Given the description of an element on the screen output the (x, y) to click on. 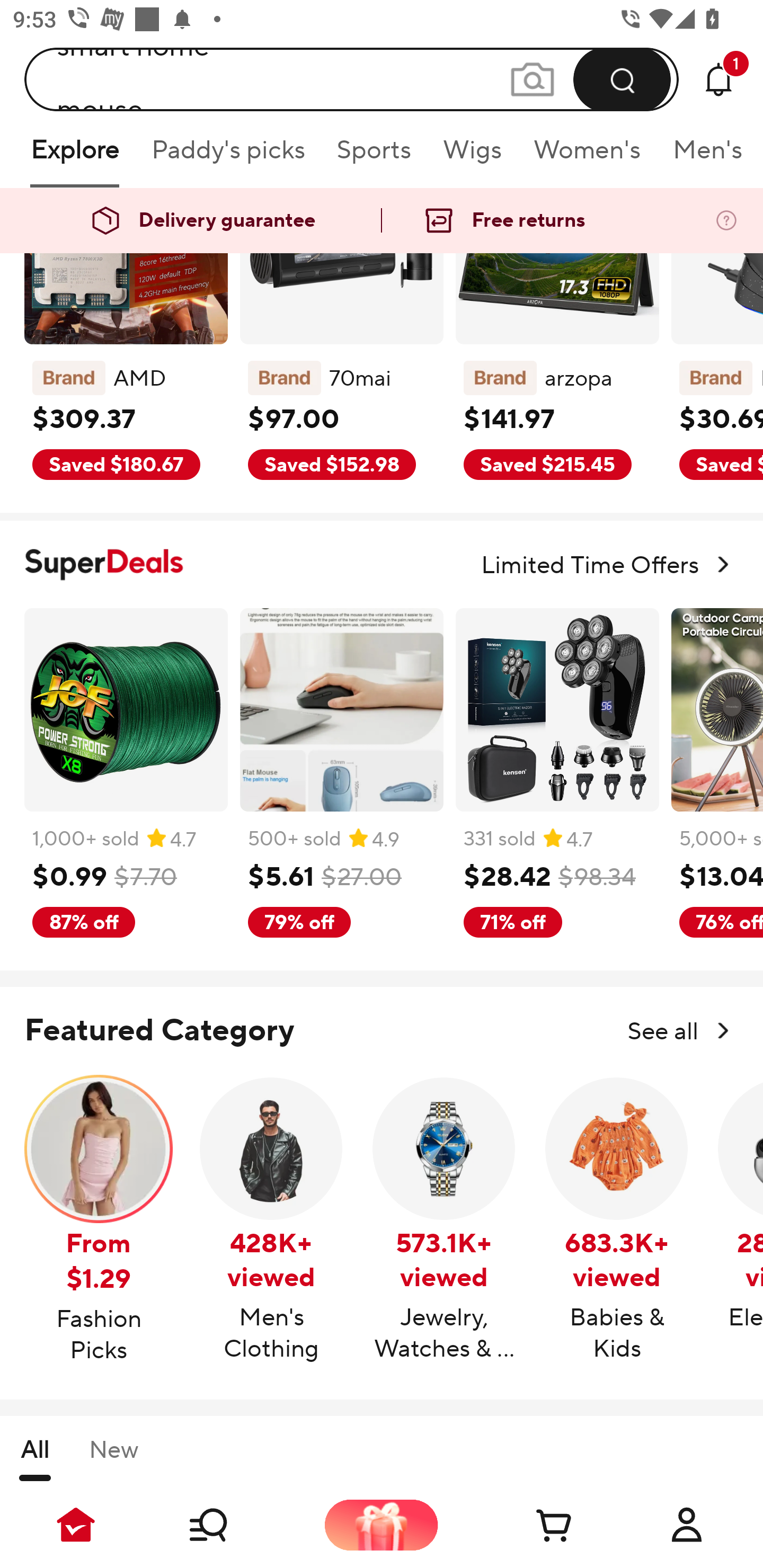
smart home (351, 76)
Paddy's picks (227, 155)
Sports (373, 155)
Wigs (472, 155)
Women's (586, 155)
Men's (701, 155)
From $1.29 Fashion Picks (98, 1220)
428K+ viewed Men's Clothing (270, 1219)
573.1K+ viewed Jewelry, Watches & Accessories (444, 1219)
683.3K+ viewed Babies & Kids (616, 1219)
New (113, 1457)
Shop (228, 1524)
Cart (533, 1524)
Account (686, 1524)
